Given the description of an element on the screen output the (x, y) to click on. 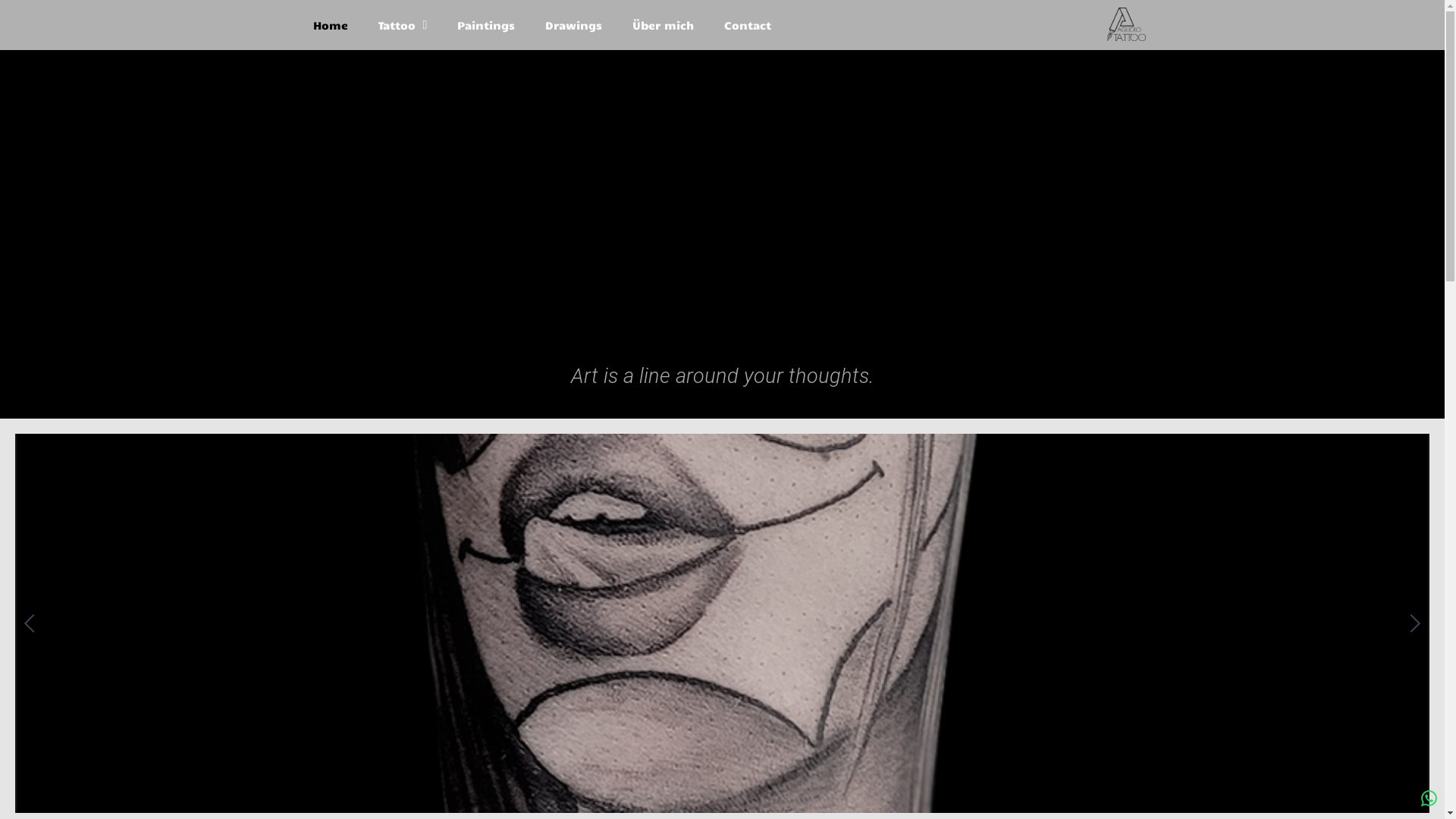
Tattoo Element type: text (402, 24)
Home Element type: text (329, 24)
Paintings Element type: text (486, 24)
Drawings Element type: text (573, 24)
Contact Element type: text (747, 24)
